Given the description of an element on the screen output the (x, y) to click on. 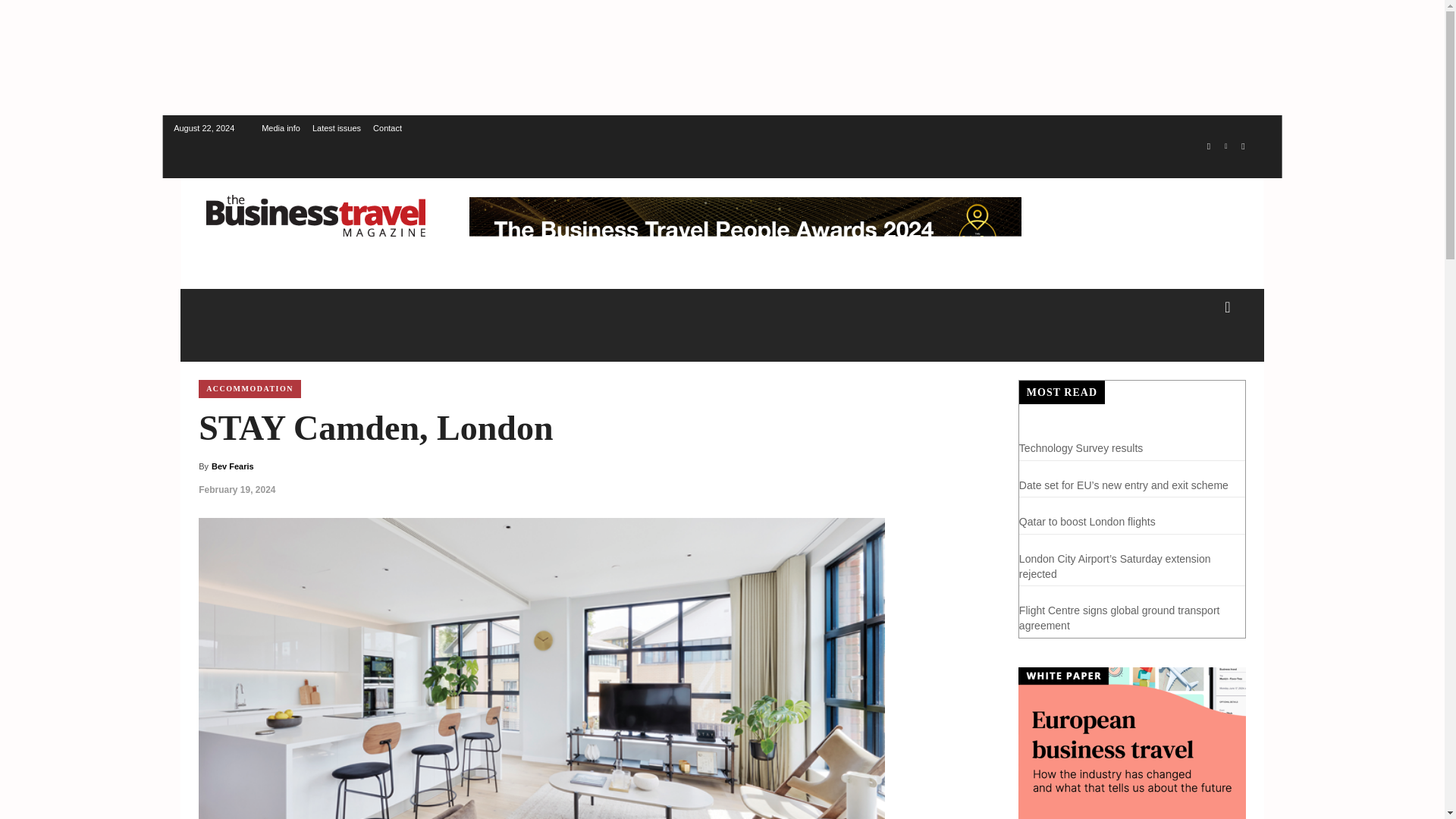
Media info (280, 127)
Latest issues (337, 127)
Linkedin (1225, 146)
The Business Travel Magazine (315, 214)
Contact (386, 127)
Twitter (1243, 146)
Instagram (1208, 146)
